Given the description of an element on the screen output the (x, y) to click on. 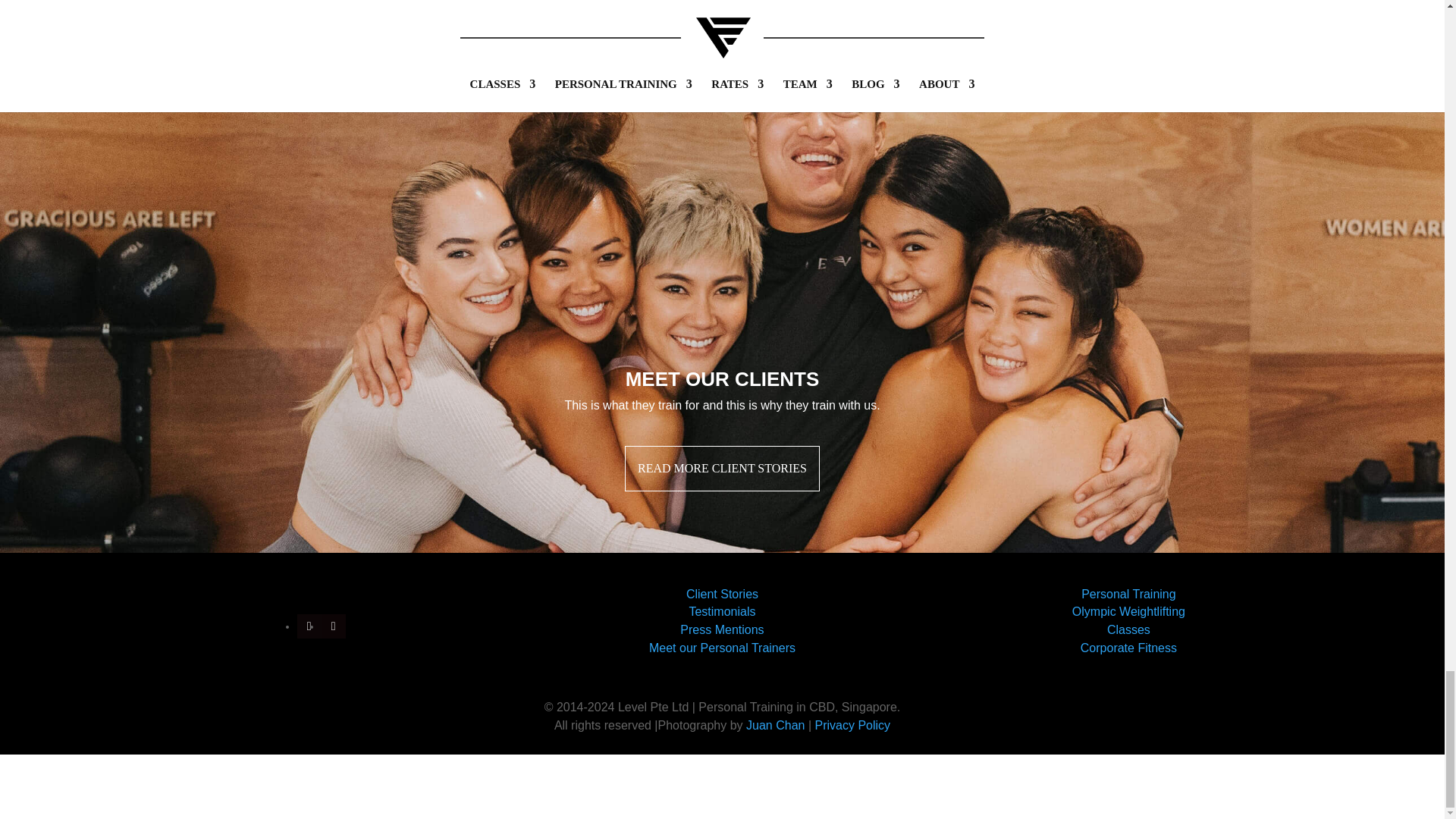
Facebook (333, 626)
Instagram (309, 626)
